Given the description of an element on the screen output the (x, y) to click on. 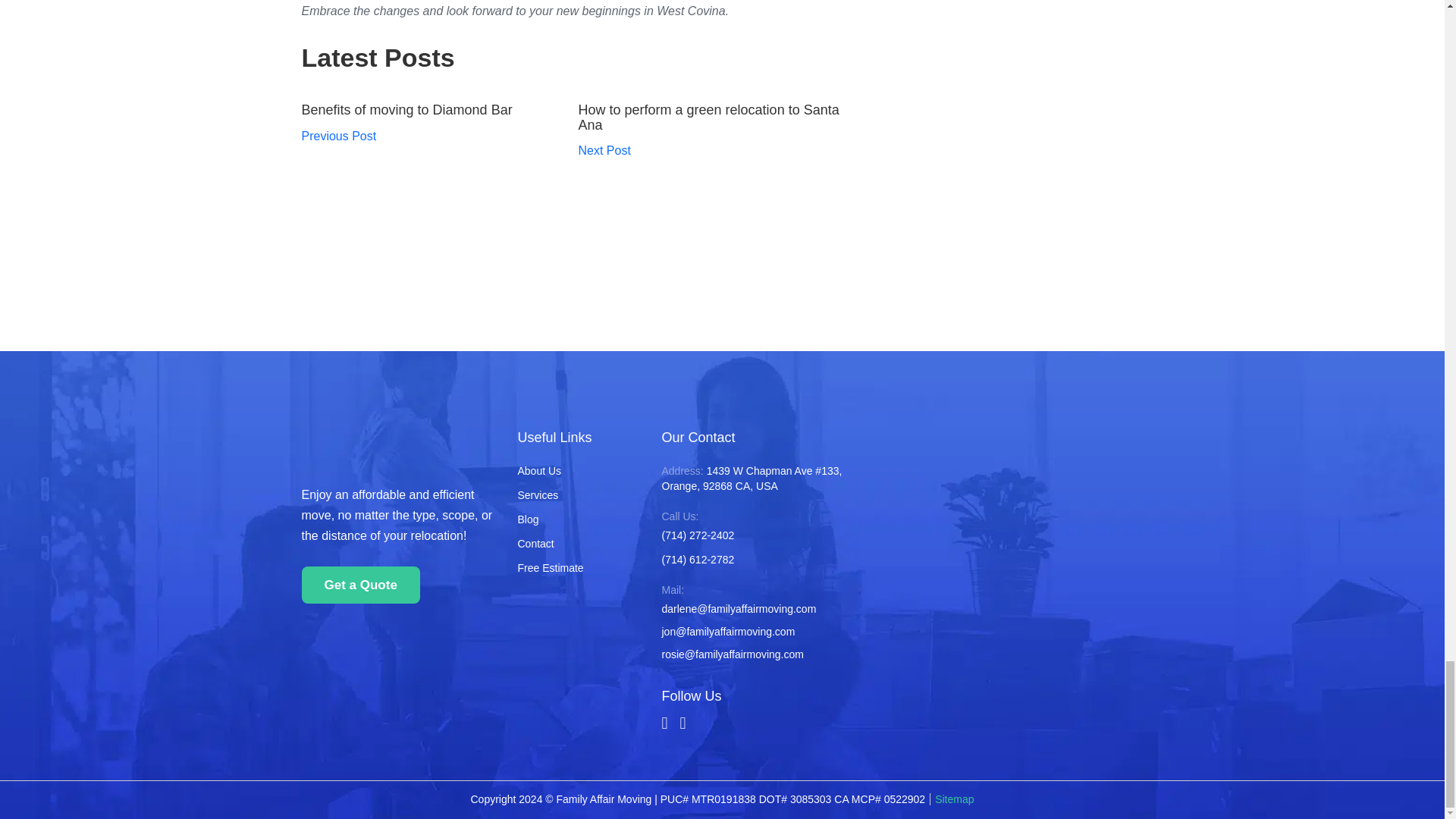
Previous Post (339, 135)
Next Post (604, 150)
